Given the description of an element on the screen output the (x, y) to click on. 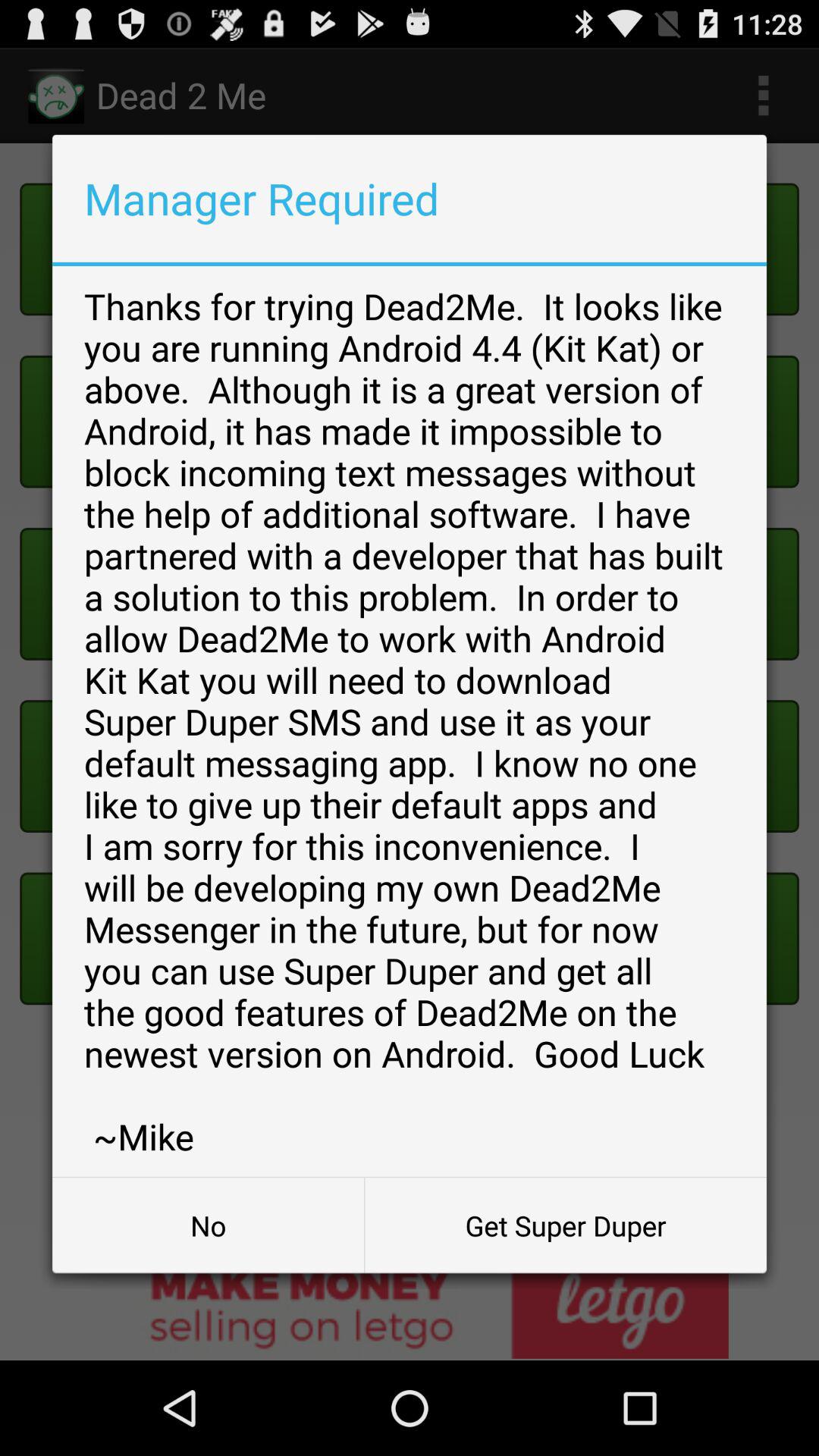
click the app below the thanks for trying item (208, 1225)
